Given the description of an element on the screen output the (x, y) to click on. 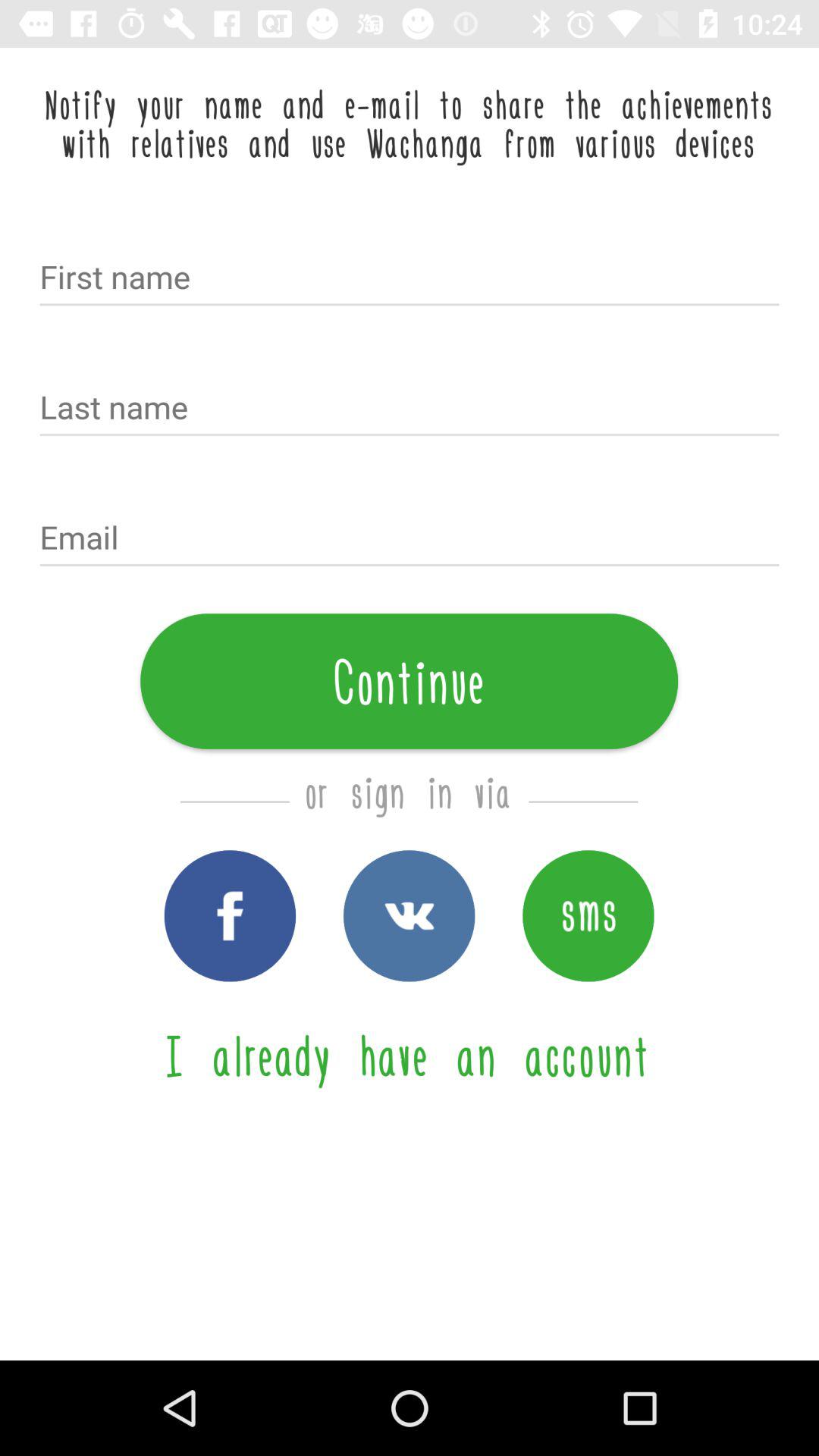
text box for last name (409, 408)
